Given the description of an element on the screen output the (x, y) to click on. 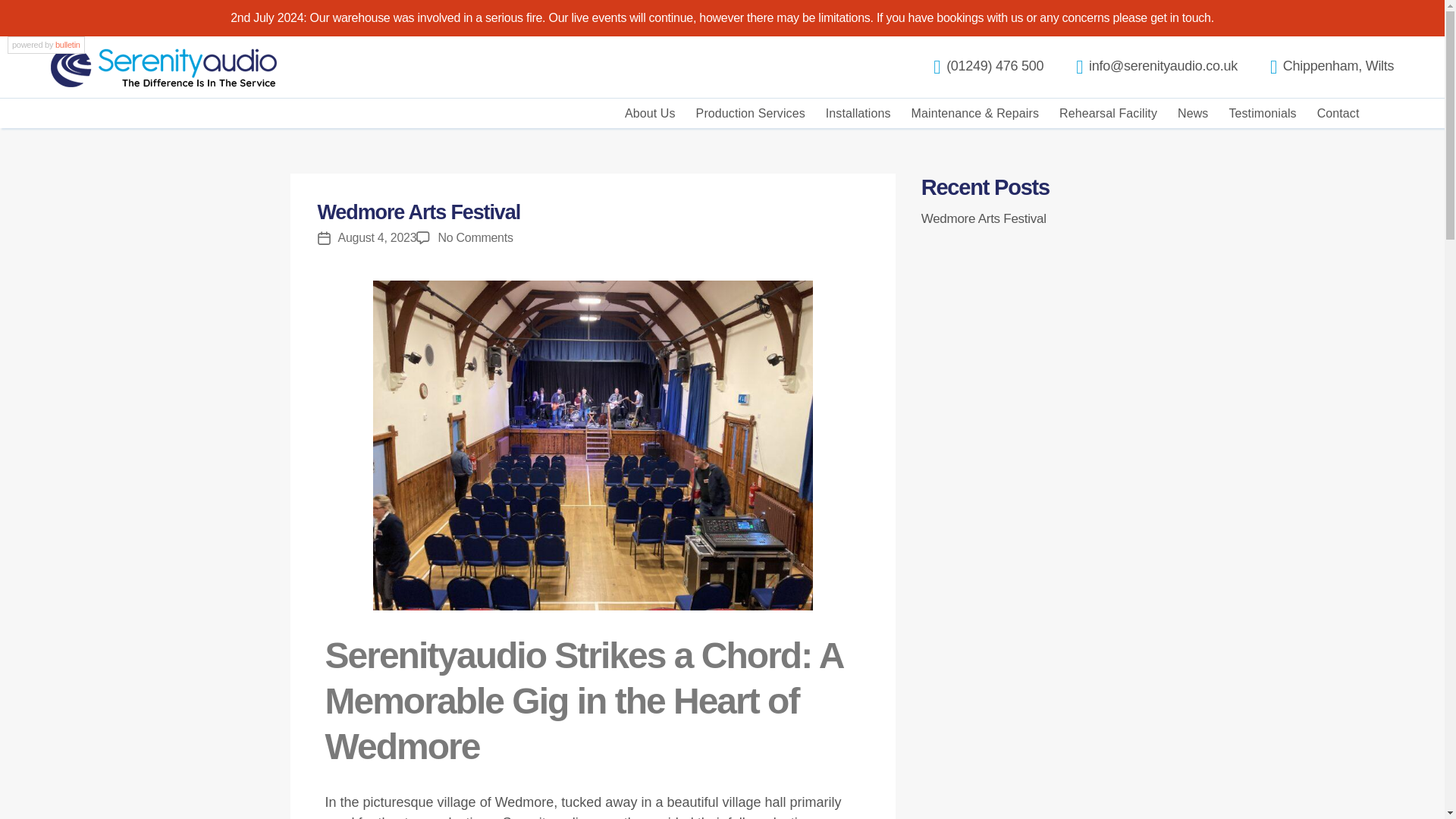
bulletin (67, 44)
Chippenham, Wilts (1337, 65)
Testimonials (1261, 112)
About Us (649, 112)
Installations (858, 112)
August 4, 2023 (376, 237)
No Comments (475, 237)
Production Services (750, 112)
News (1192, 112)
Rehearsal Facility (1108, 112)
Contact (1338, 112)
